Given the description of an element on the screen output the (x, y) to click on. 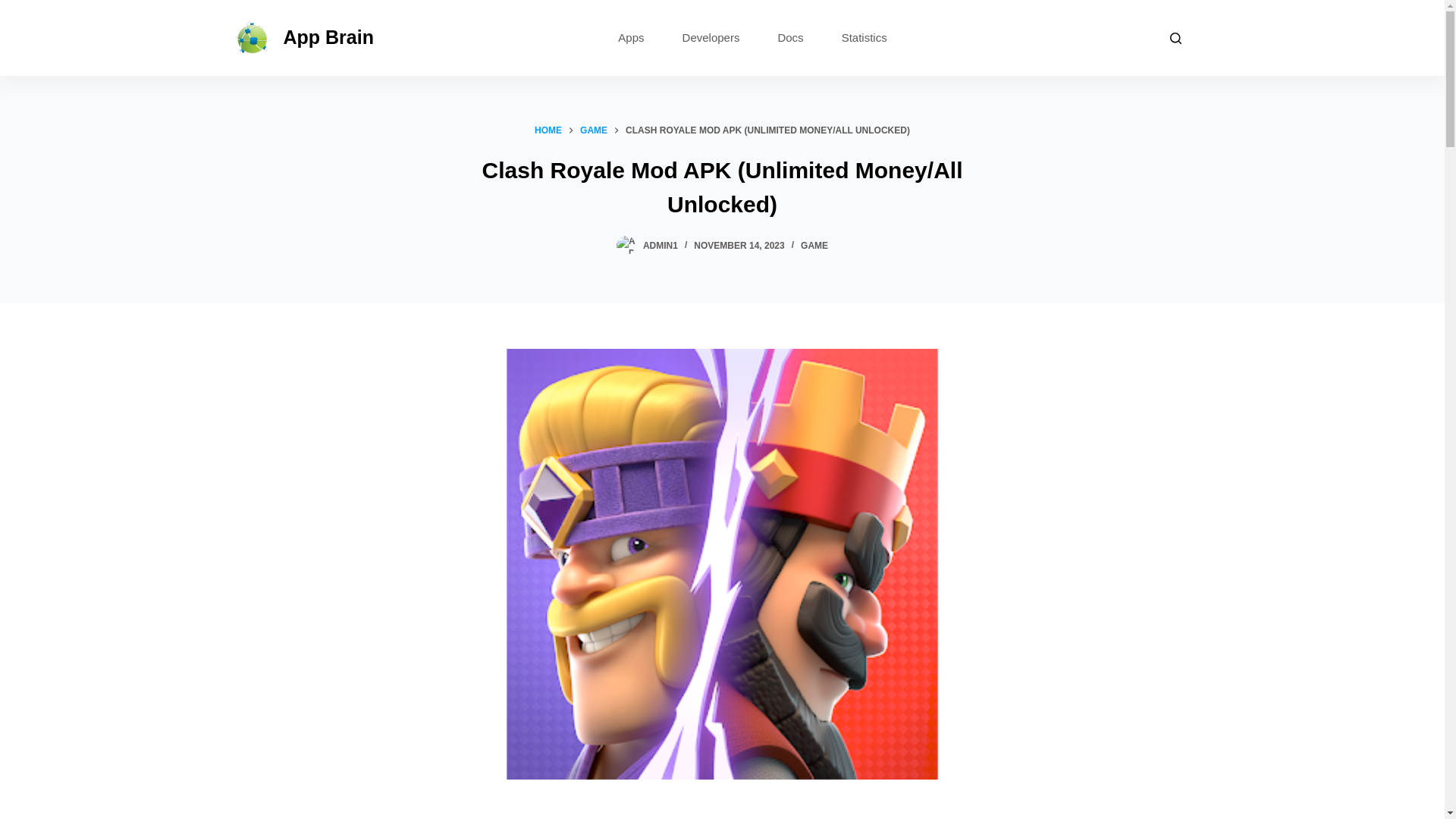
Docs (790, 37)
Statistics (863, 37)
GAME (593, 130)
Developers (710, 37)
ADMIN1 (660, 245)
GAME (814, 245)
HOME (548, 130)
Skip to content (15, 7)
App Brain (328, 36)
Posts by admin1 (660, 245)
Apps (630, 37)
